Given the description of an element on the screen output the (x, y) to click on. 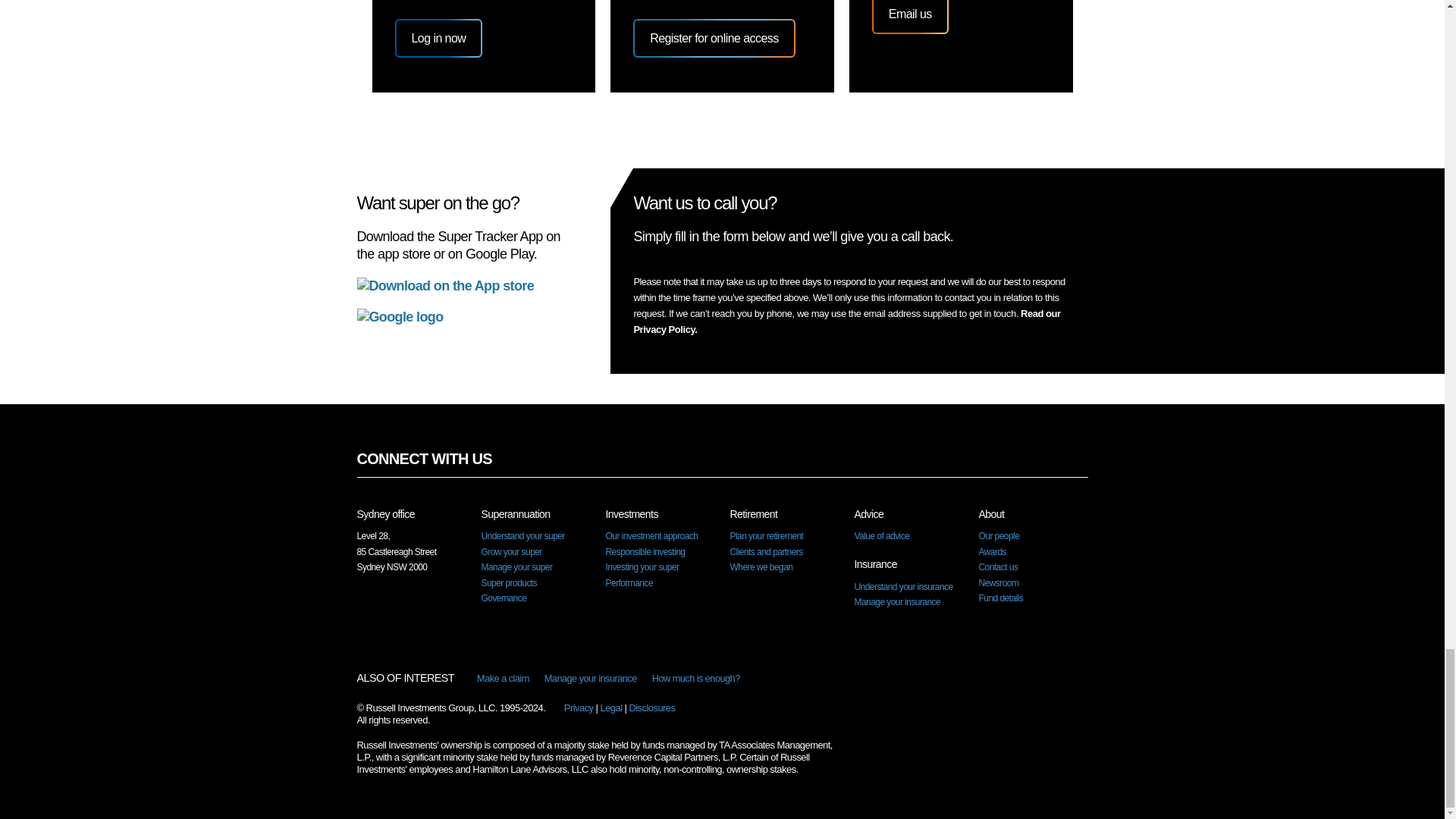
Register for online access (713, 38)
Governance (502, 597)
Performance (628, 583)
Clients and partners (765, 552)
Email us (910, 15)
Grow your super (510, 552)
Responsible investing (644, 552)
Manage your super (515, 566)
Our investment approach (651, 535)
Understand your super (522, 535)
